Given the description of an element on the screen output the (x, y) to click on. 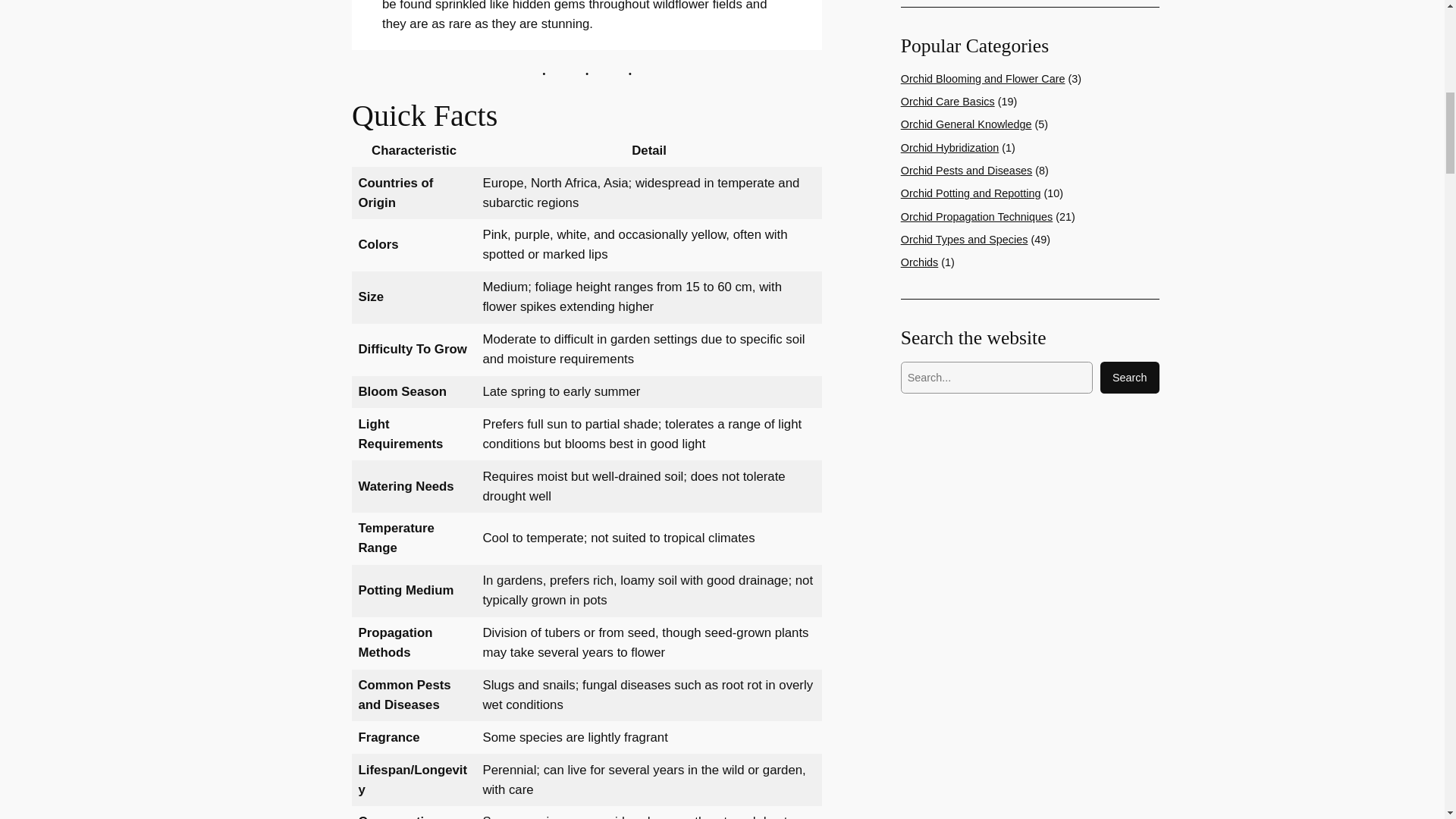
Orchid Potting and Repotting (971, 193)
Search (1129, 377)
Orchid Propagation Techniques (976, 216)
Orchid General Knowledge (966, 123)
Orchid Types and Species (964, 239)
Orchids (920, 262)
Orchid Pests and Diseases (966, 170)
Orchid Care Basics (947, 101)
Orchid Hybridization (949, 147)
Orchid Blooming and Flower Care (983, 78)
